Given the description of an element on the screen output the (x, y) to click on. 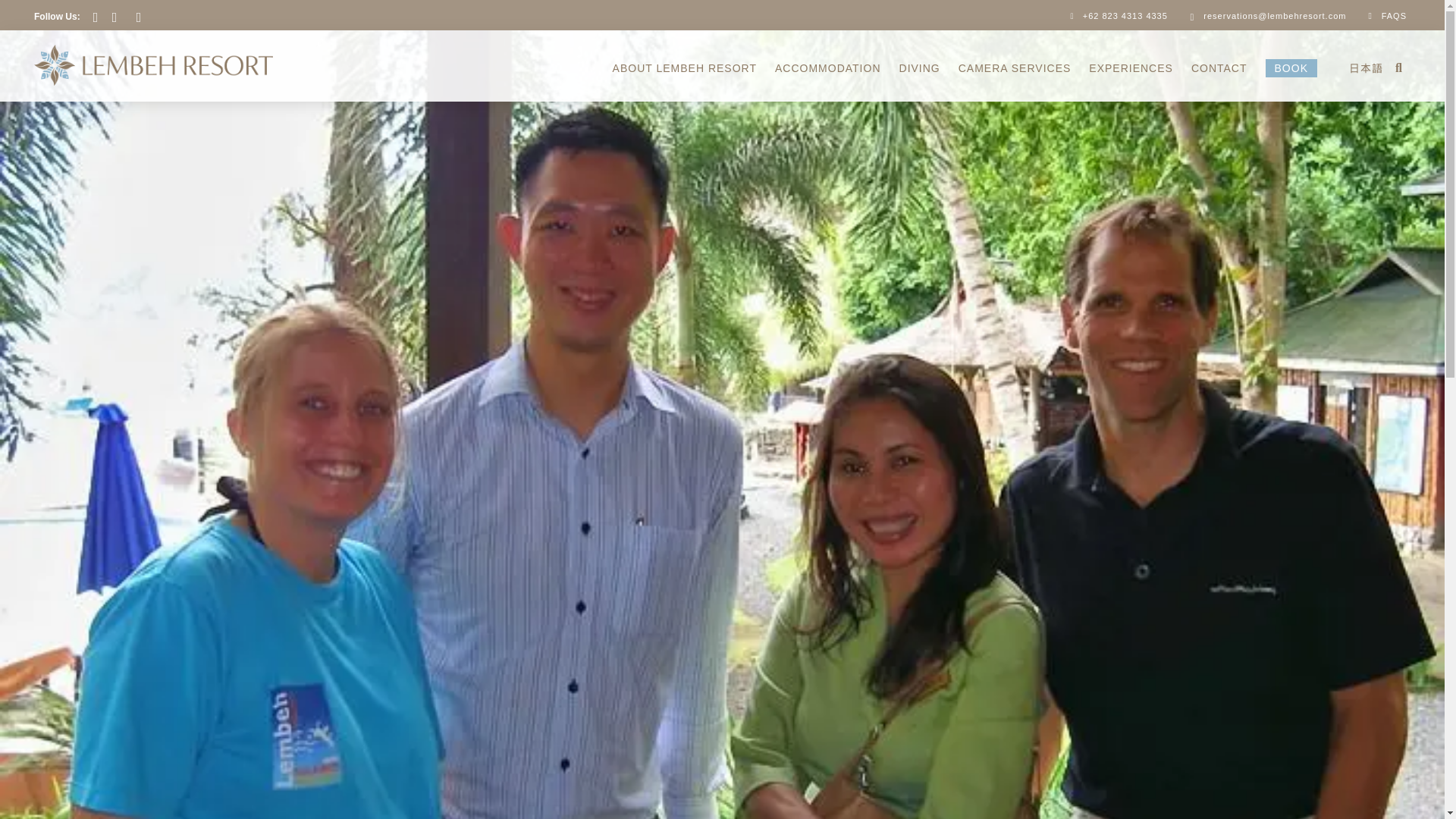
DIVING (919, 67)
EXPERIENCES (1131, 67)
ACCOMMODATION (827, 67)
ABOUT LEMBEH RESORT (684, 67)
CAMERA SERVICES (1014, 67)
FAQS (1385, 15)
